Given the description of an element on the screen output the (x, y) to click on. 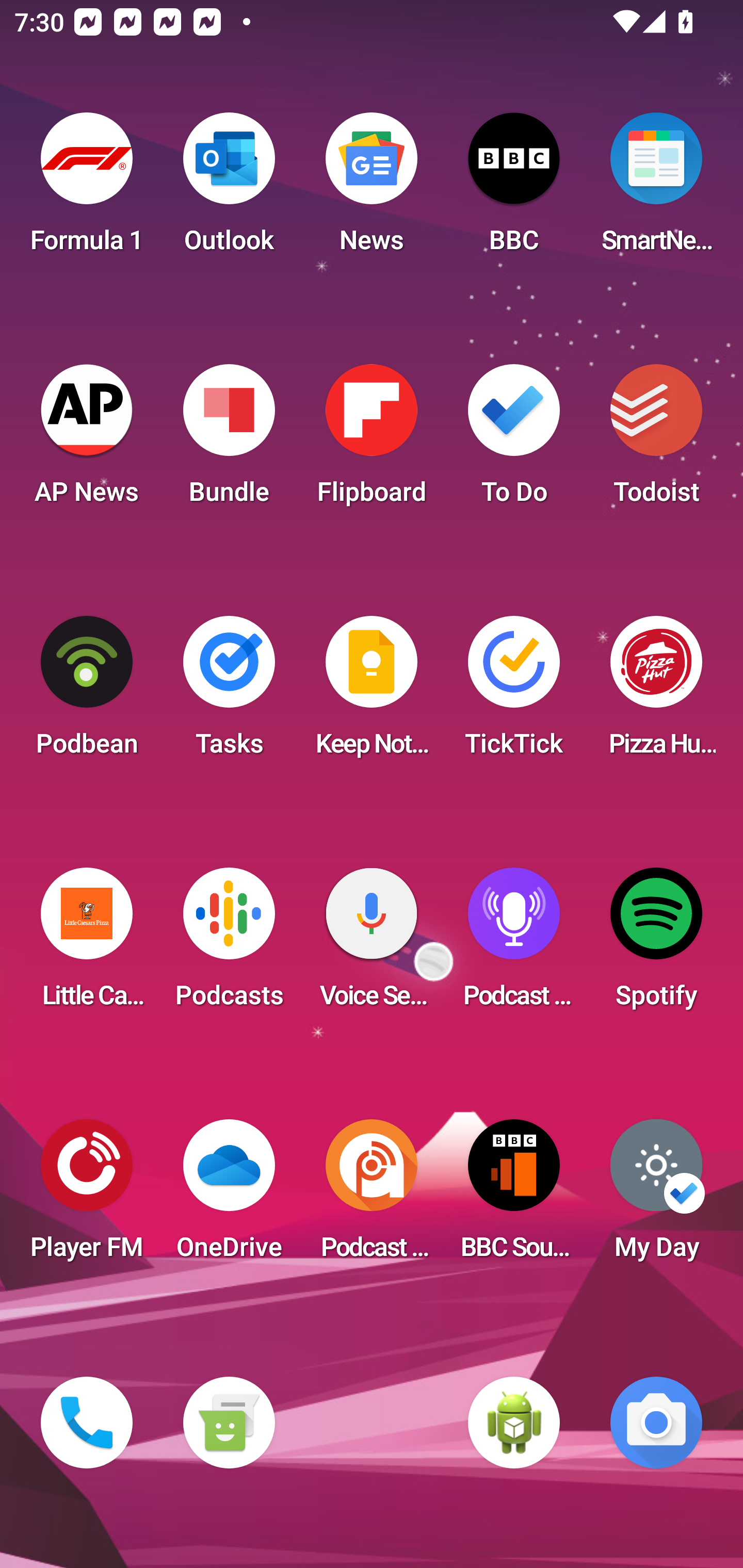
Formula 1 (86, 188)
Outlook (228, 188)
News (371, 188)
BBC (513, 188)
SmartNews (656, 188)
AP News (86, 440)
Bundle (228, 440)
Flipboard (371, 440)
To Do (513, 440)
Todoist (656, 440)
Podbean (86, 692)
Tasks (228, 692)
Keep Notes (371, 692)
TickTick (513, 692)
Pizza Hut HK & Macau (656, 692)
Little Caesars Pizza (86, 943)
Podcasts (228, 943)
Voice Search (371, 943)
Podcast Player (513, 943)
Spotify (656, 943)
Player FM (86, 1195)
OneDrive (228, 1195)
Podcast Addict (371, 1195)
BBC Sounds (513, 1195)
My Day (656, 1195)
Phone (86, 1422)
Messaging (228, 1422)
WebView Browser Tester (513, 1422)
Camera (656, 1422)
